Given the description of an element on the screen output the (x, y) to click on. 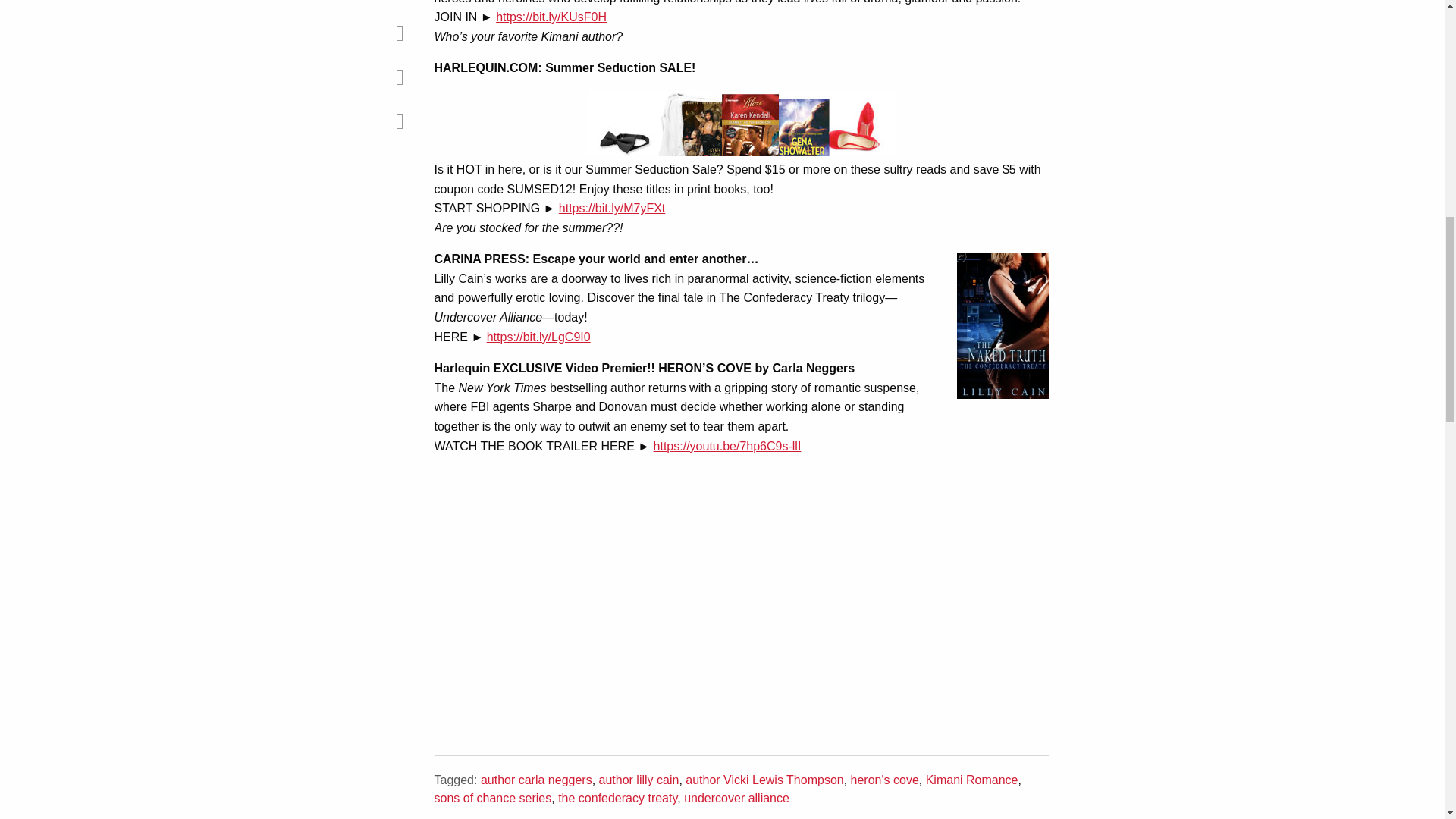
author Vicki Lewis Thompson (764, 779)
author lilly cain (638, 779)
summer-seduction-sale (740, 123)
author carla neggers (536, 779)
heron's cove (884, 779)
